Given the description of an element on the screen output the (x, y) to click on. 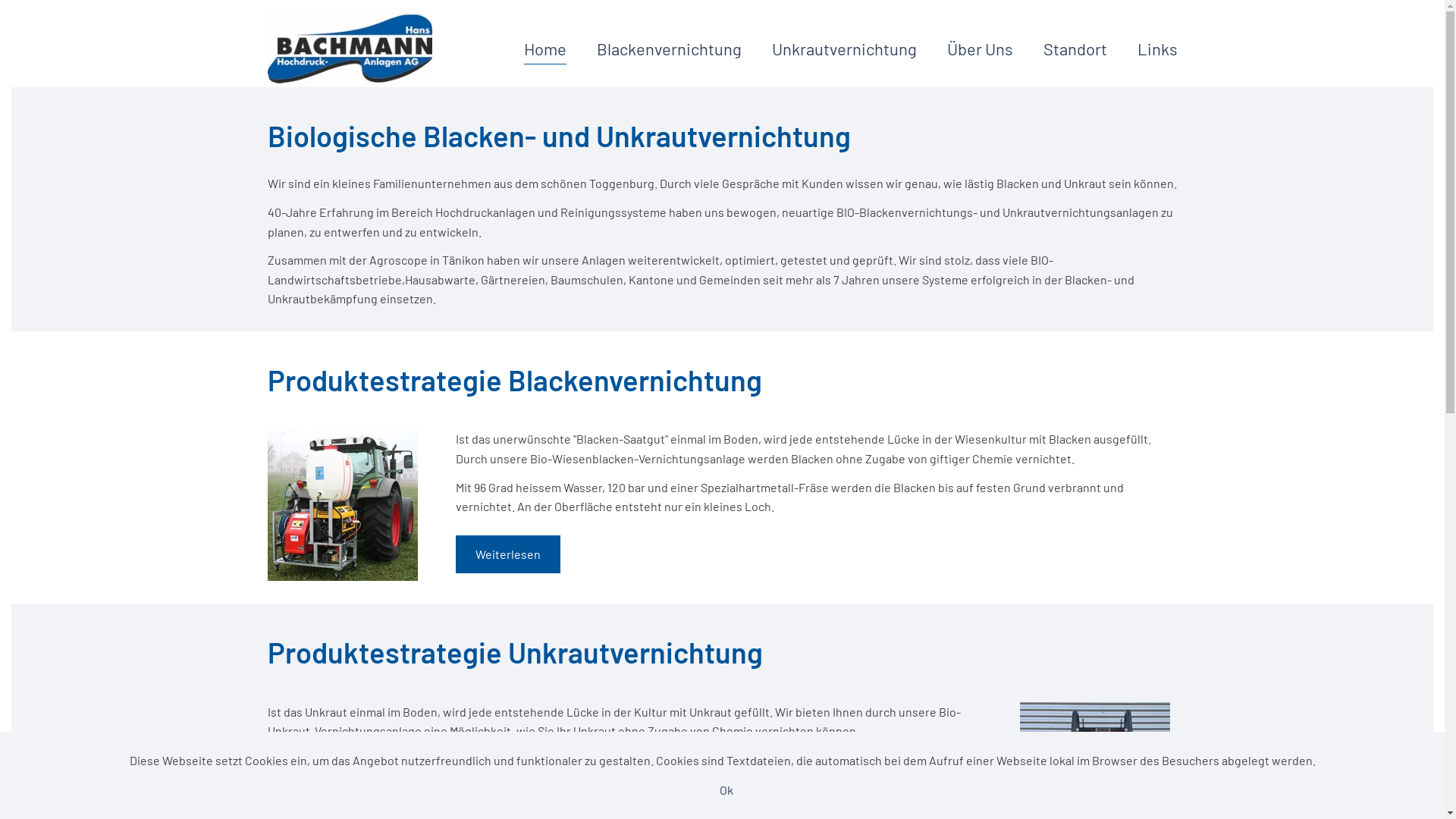
Links Element type: text (1157, 49)
Ok Element type: text (725, 790)
Unkrautvernichtung Element type: text (843, 49)
Home Element type: text (544, 49)
Blackenvernichtung Element type: text (668, 49)
Weiterlesen Element type: text (507, 554)
Standort Element type: text (1075, 49)
